Given the description of an element on the screen output the (x, y) to click on. 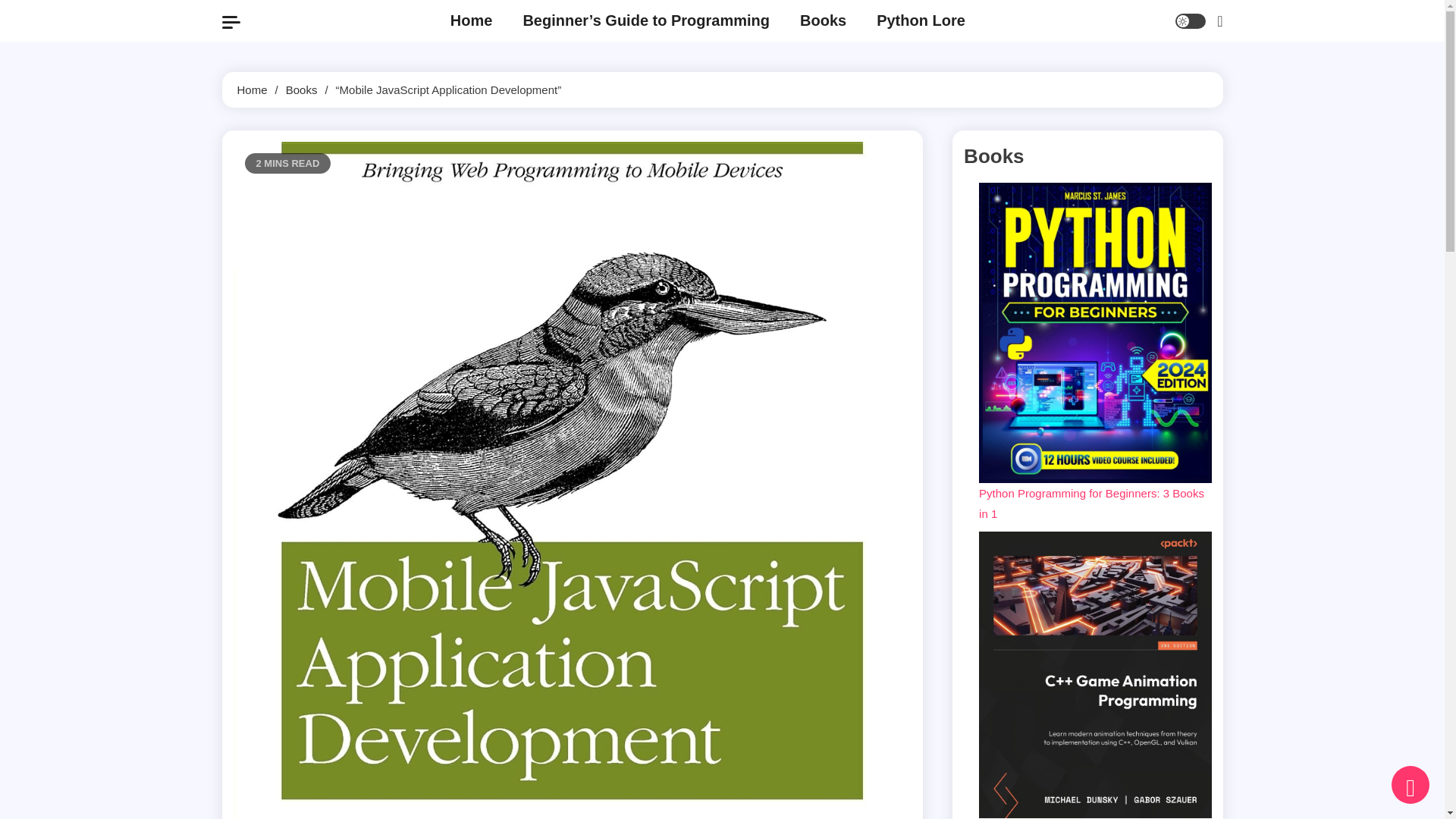
Books (822, 20)
Python Lore (920, 20)
Home (250, 89)
Search (1180, 78)
Python Programming for Beginners: 3 Books in 1 (1091, 503)
Books (301, 89)
Home (471, 20)
site mode button (1189, 20)
